Given the description of an element on the screen output the (x, y) to click on. 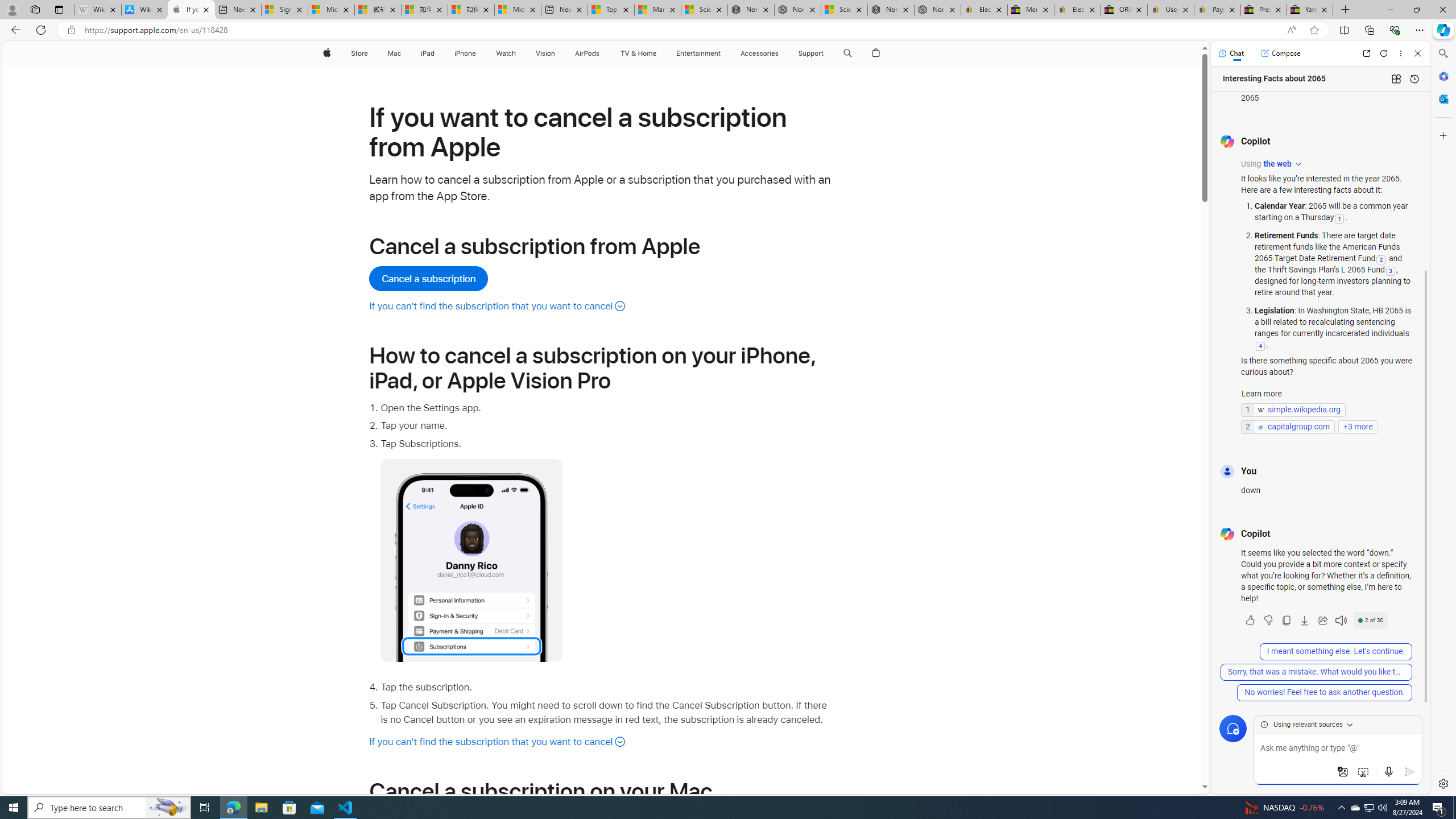
Store menu (370, 53)
No alt supplied for Image (471, 560)
Store (359, 53)
Accessories (759, 53)
Open the Settings app. (607, 407)
Support (810, 53)
Entertainment menu (722, 53)
Store (359, 53)
iPad menu (435, 53)
Support menu (825, 53)
